Given the description of an element on the screen output the (x, y) to click on. 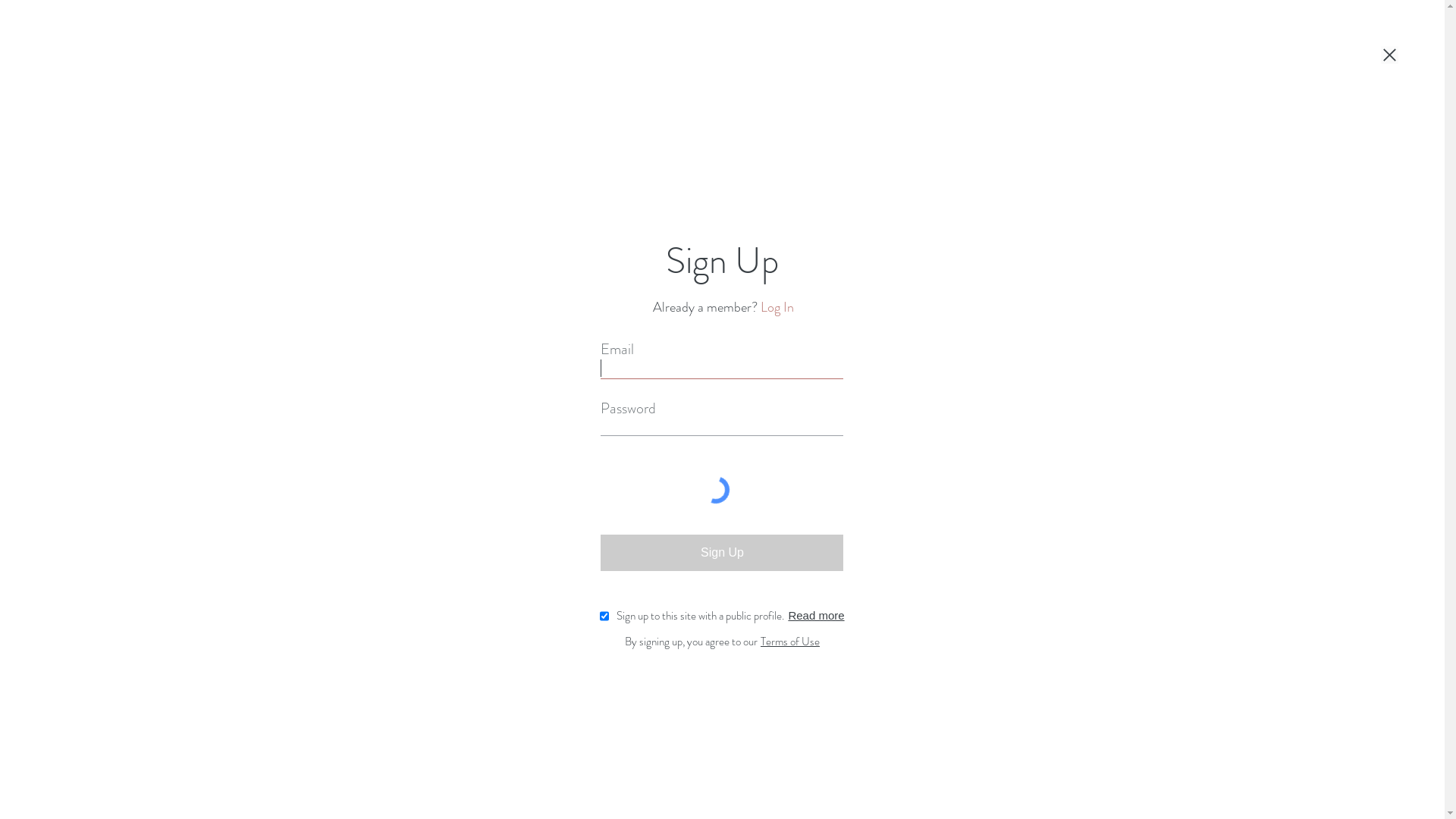
Terms of Use Element type: text (789, 640)
Sign Up Element type: text (721, 552)
Read more Element type: text (815, 614)
Log In Element type: text (776, 307)
